Given the description of an element on the screen output the (x, y) to click on. 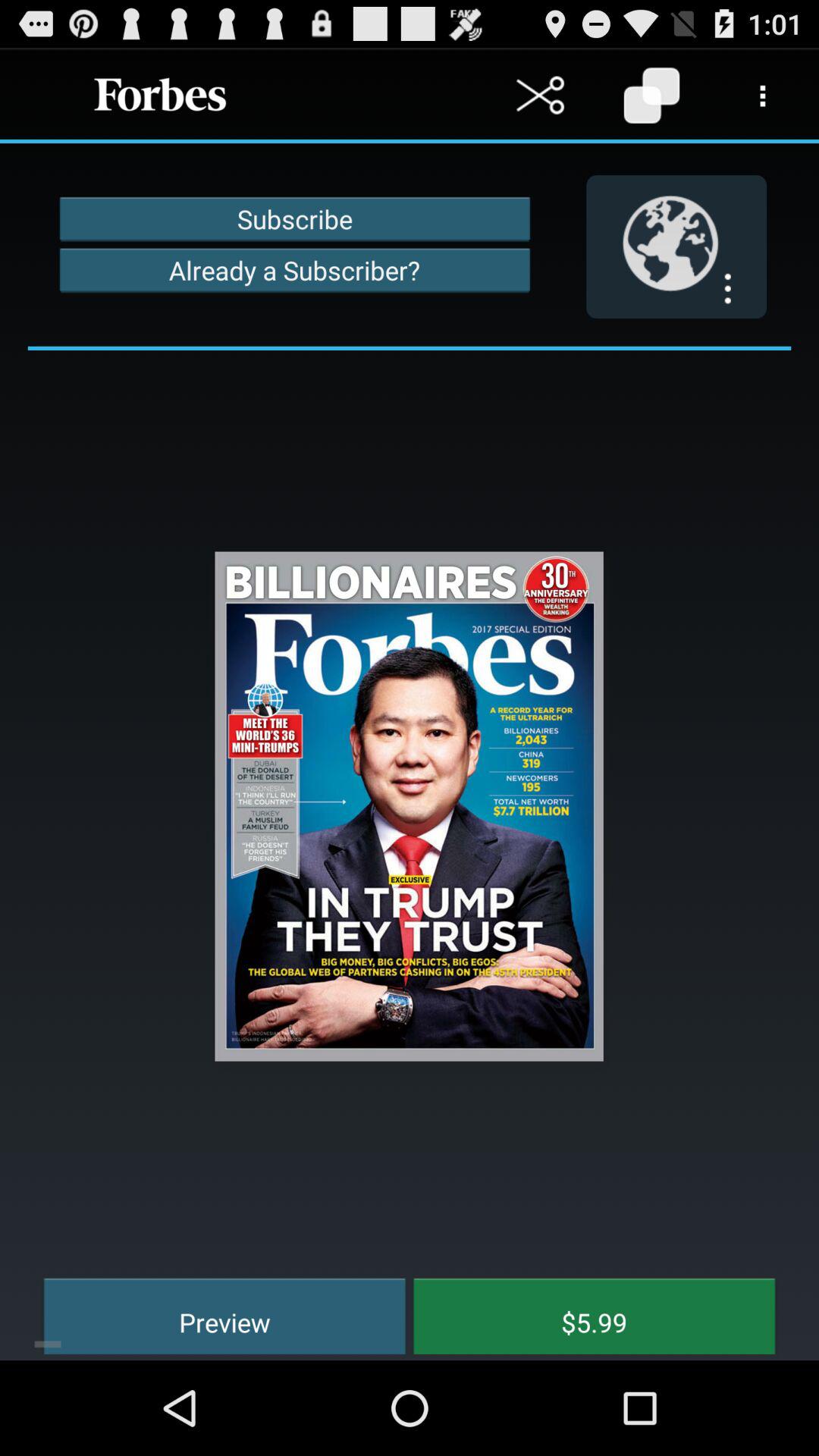
turn off the item at the bottom right corner (583, 1314)
